Given the description of an element on the screen output the (x, y) to click on. 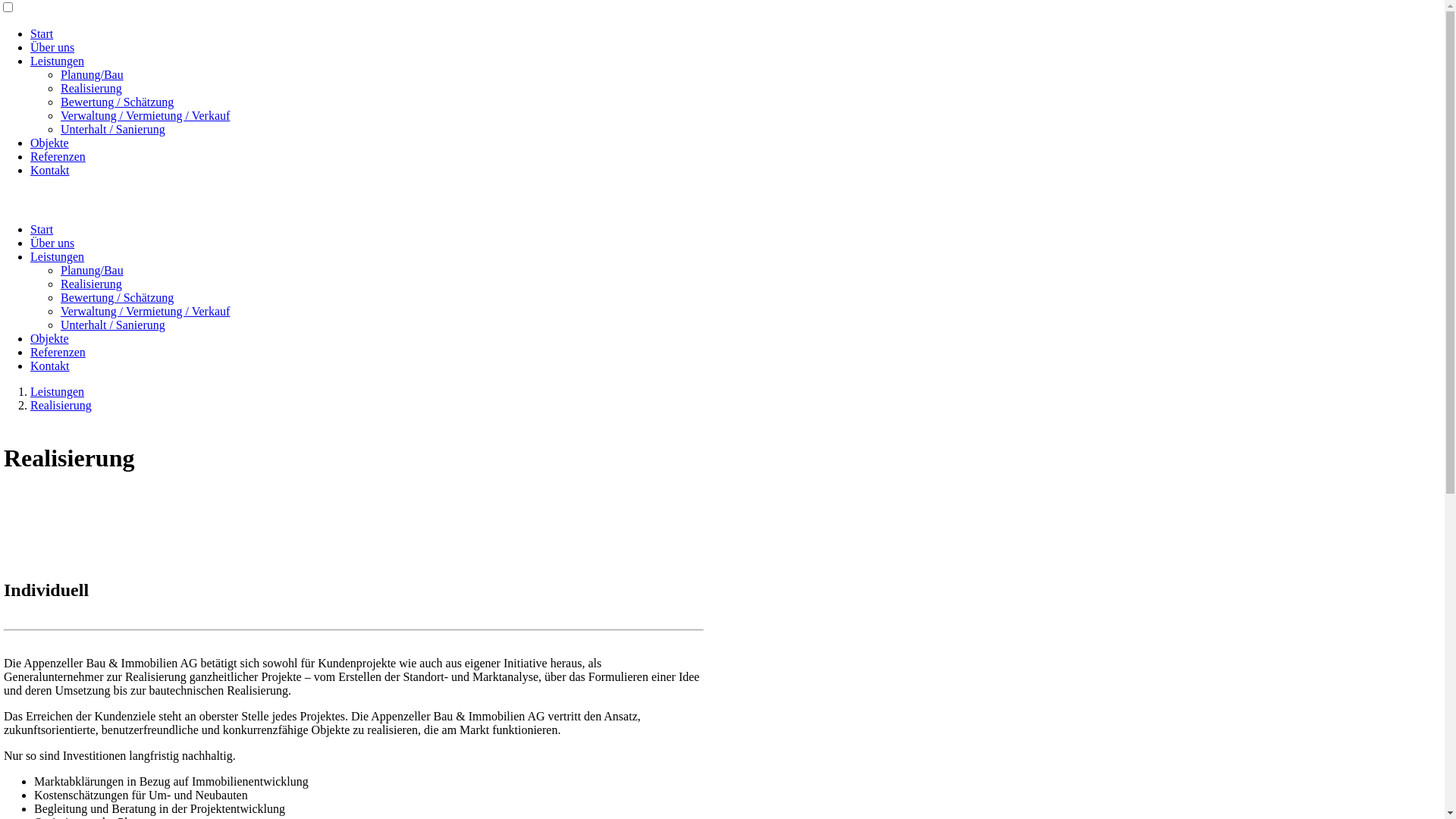
Start Element type: text (41, 33)
Verwaltung / Vermietung / Verkauf Element type: text (144, 115)
Objekte Element type: text (49, 142)
Planung/Bau Element type: text (91, 74)
Leistungen Element type: text (57, 256)
Referenzen Element type: text (57, 351)
Kontakt Element type: text (49, 365)
Start Element type: text (41, 228)
Objekte Element type: text (49, 338)
Realisierung Element type: text (60, 404)
Realisierung Element type: text (91, 283)
Realisierung Element type: text (91, 87)
Leistungen Element type: text (57, 60)
Referenzen Element type: text (57, 156)
Kontakt Element type: text (49, 169)
Verwaltung / Vermietung / Verkauf Element type: text (144, 310)
Unterhalt / Sanierung Element type: text (112, 128)
Leistungen Element type: text (57, 391)
Planung/Bau Element type: text (91, 269)
Unterhalt / Sanierung Element type: text (112, 324)
